Given the description of an element on the screen output the (x, y) to click on. 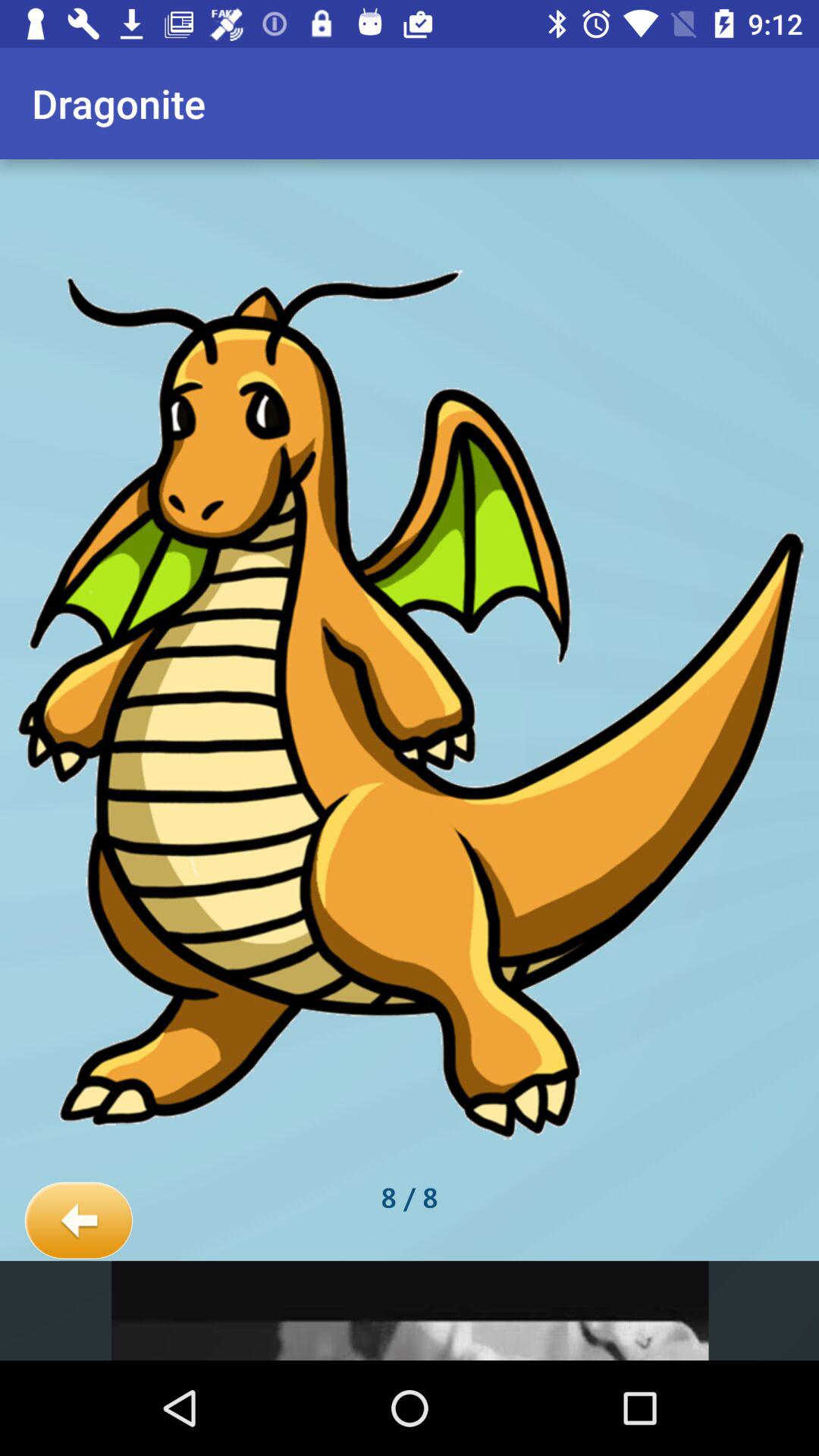
turn off the item next to 8 / 8 (78, 1220)
